Given the description of an element on the screen output the (x, y) to click on. 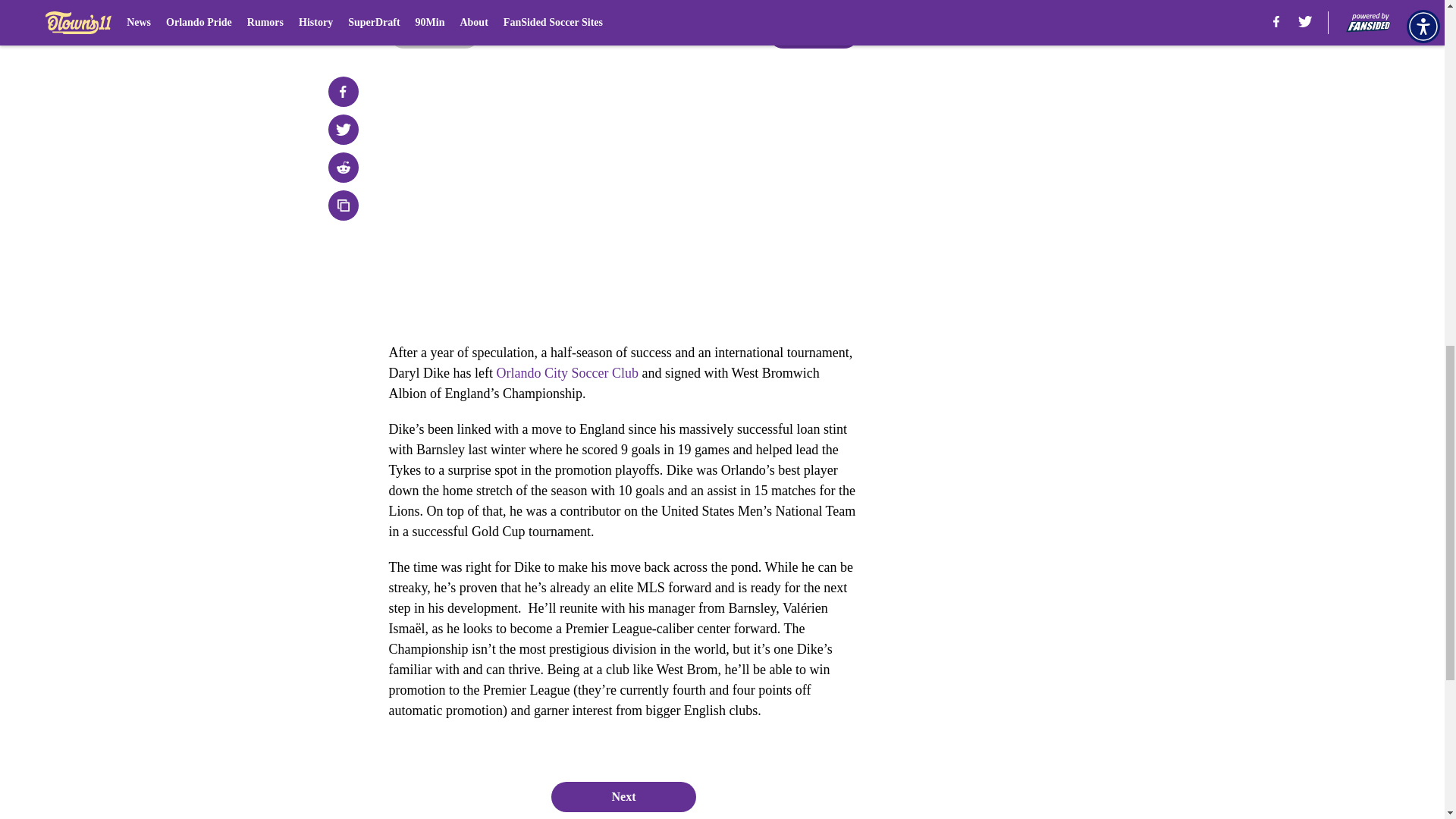
Prev (433, 33)
Next (622, 797)
Orlando City Soccer Club (566, 372)
Next (813, 33)
